Given the description of an element on the screen output the (x, y) to click on. 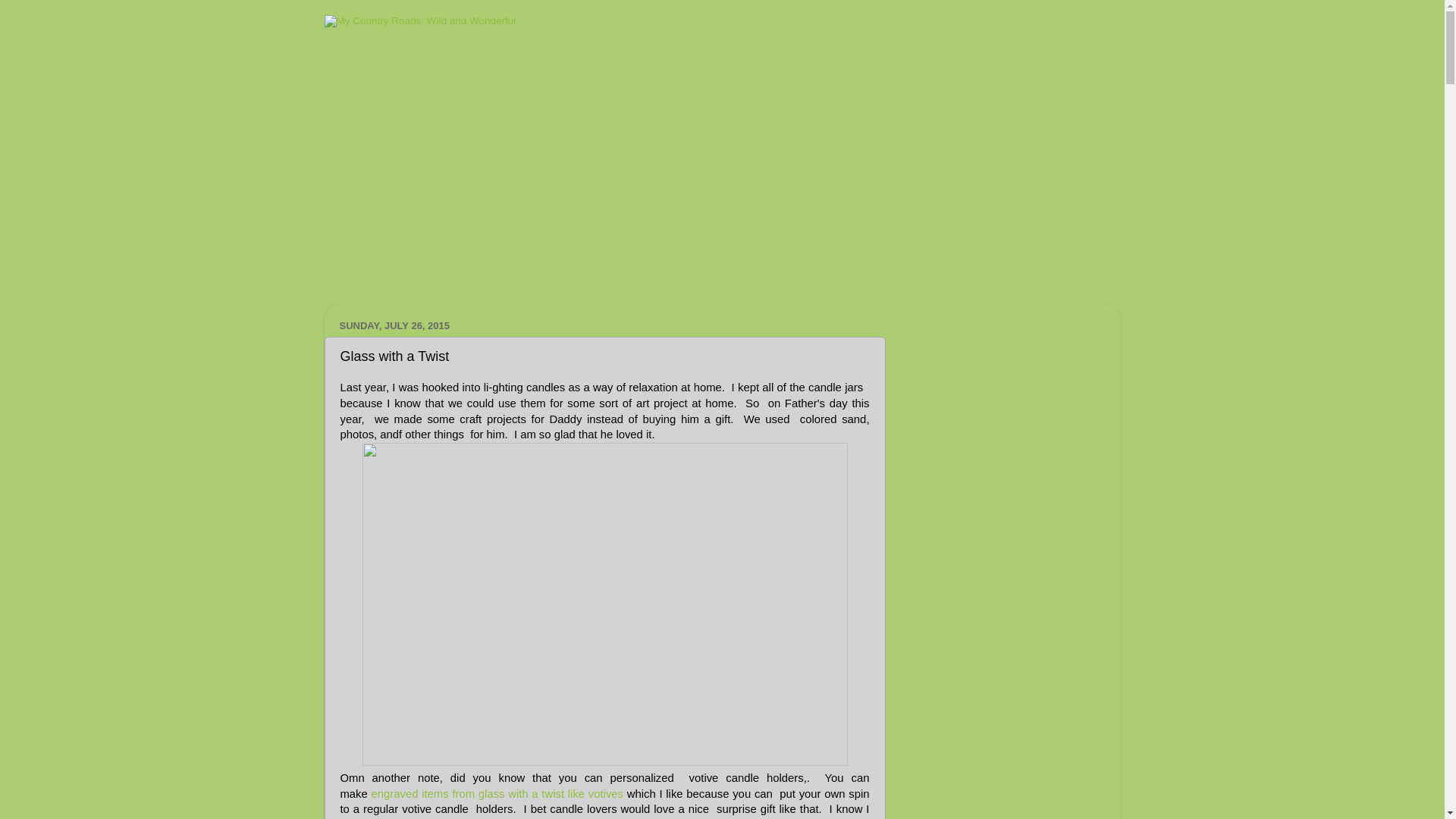
engraved items from glass with a twist like votives (497, 793)
